Given the description of an element on the screen output the (x, y) to click on. 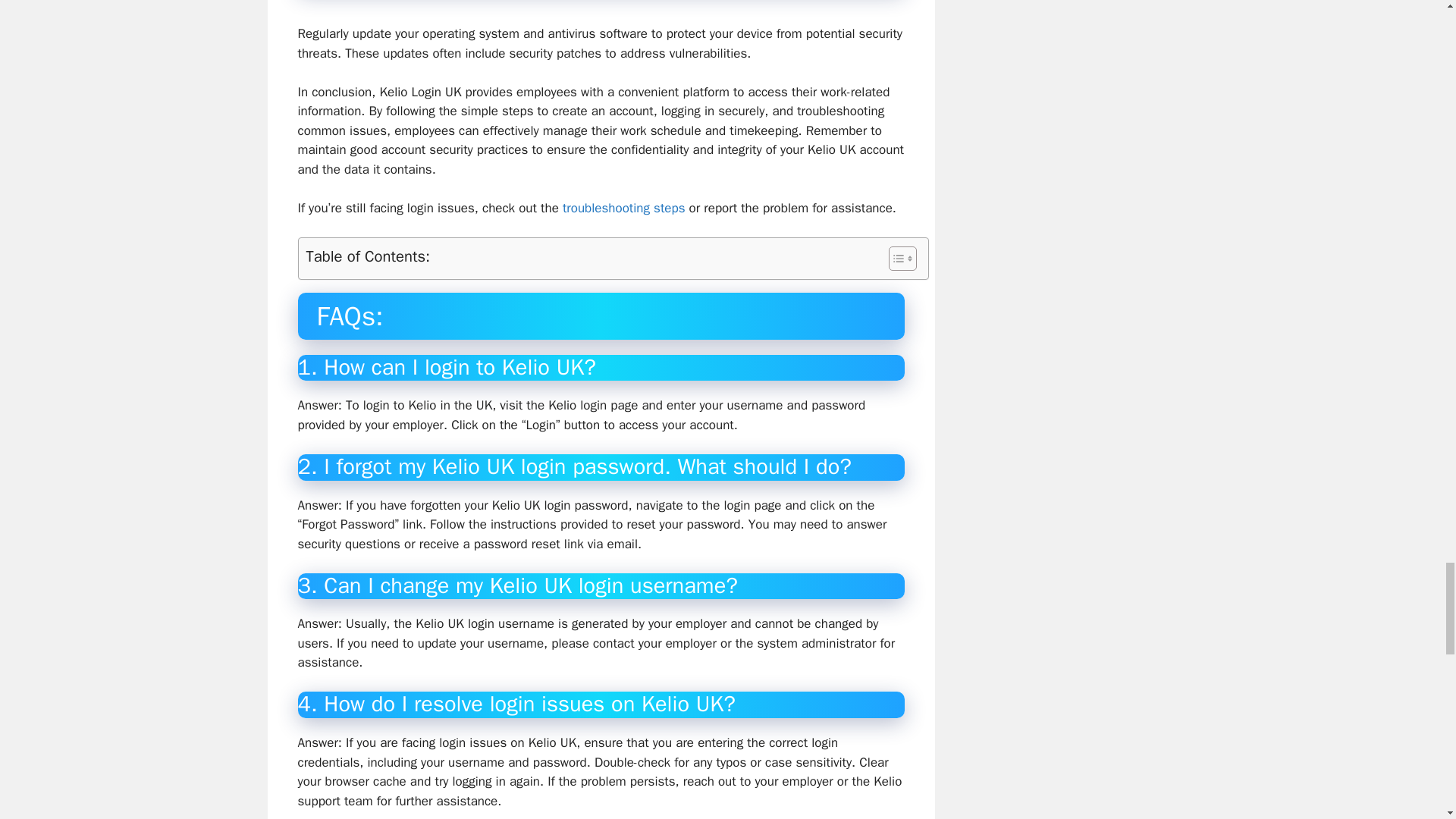
troubleshooting steps (623, 207)
